Given the description of an element on the screen output the (x, y) to click on. 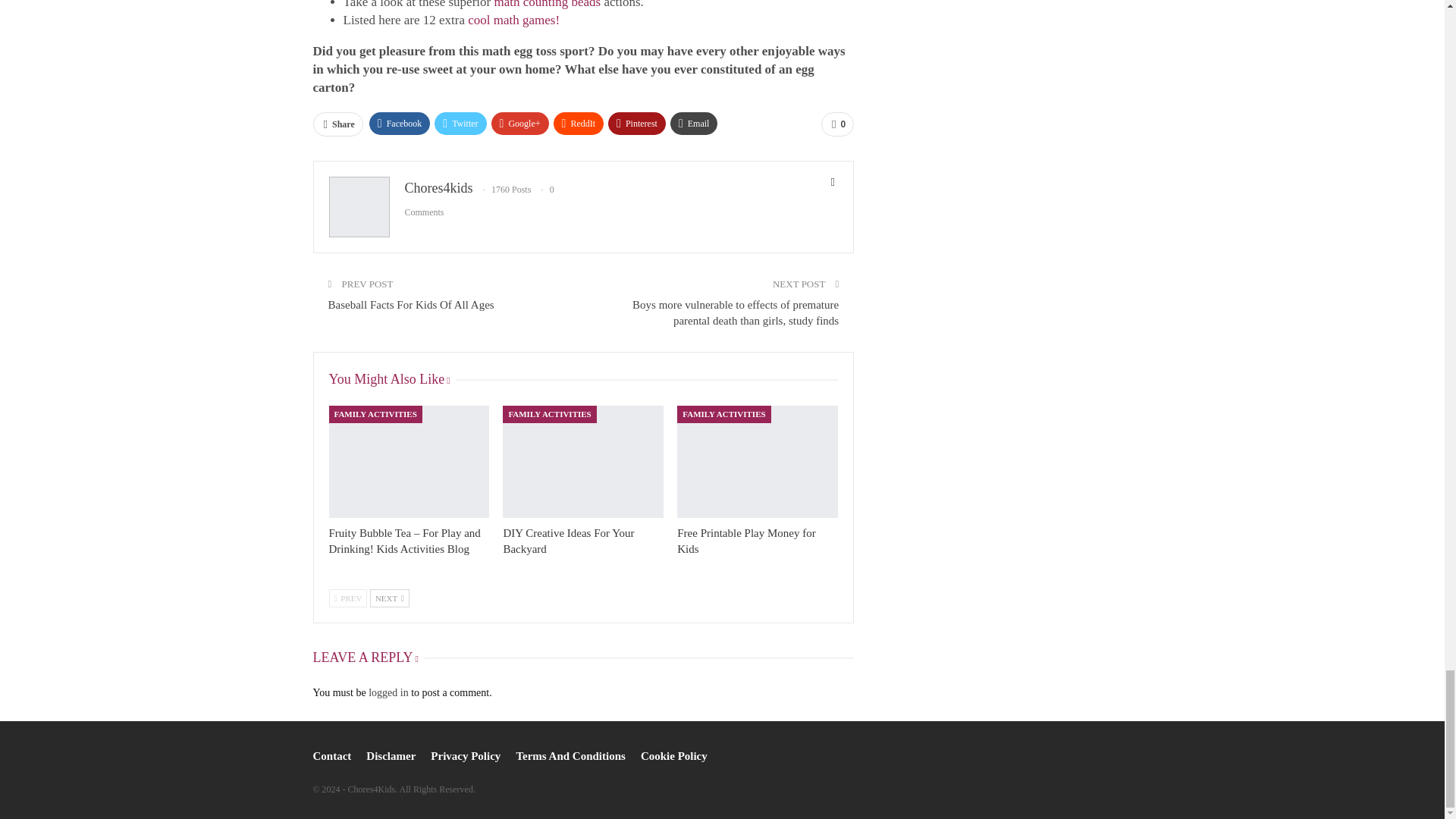
Free Printable Play Money for Kids (757, 461)
Facebook (399, 123)
math counting beads  (548, 4)
DIY Creative Ideas For Your Backyard (582, 461)
Free Printable Play Money for Kids (746, 541)
0 (837, 124)
DIY Creative Ideas For Your Backyard (567, 541)
cool math games! (513, 20)
